Given the description of an element on the screen output the (x, y) to click on. 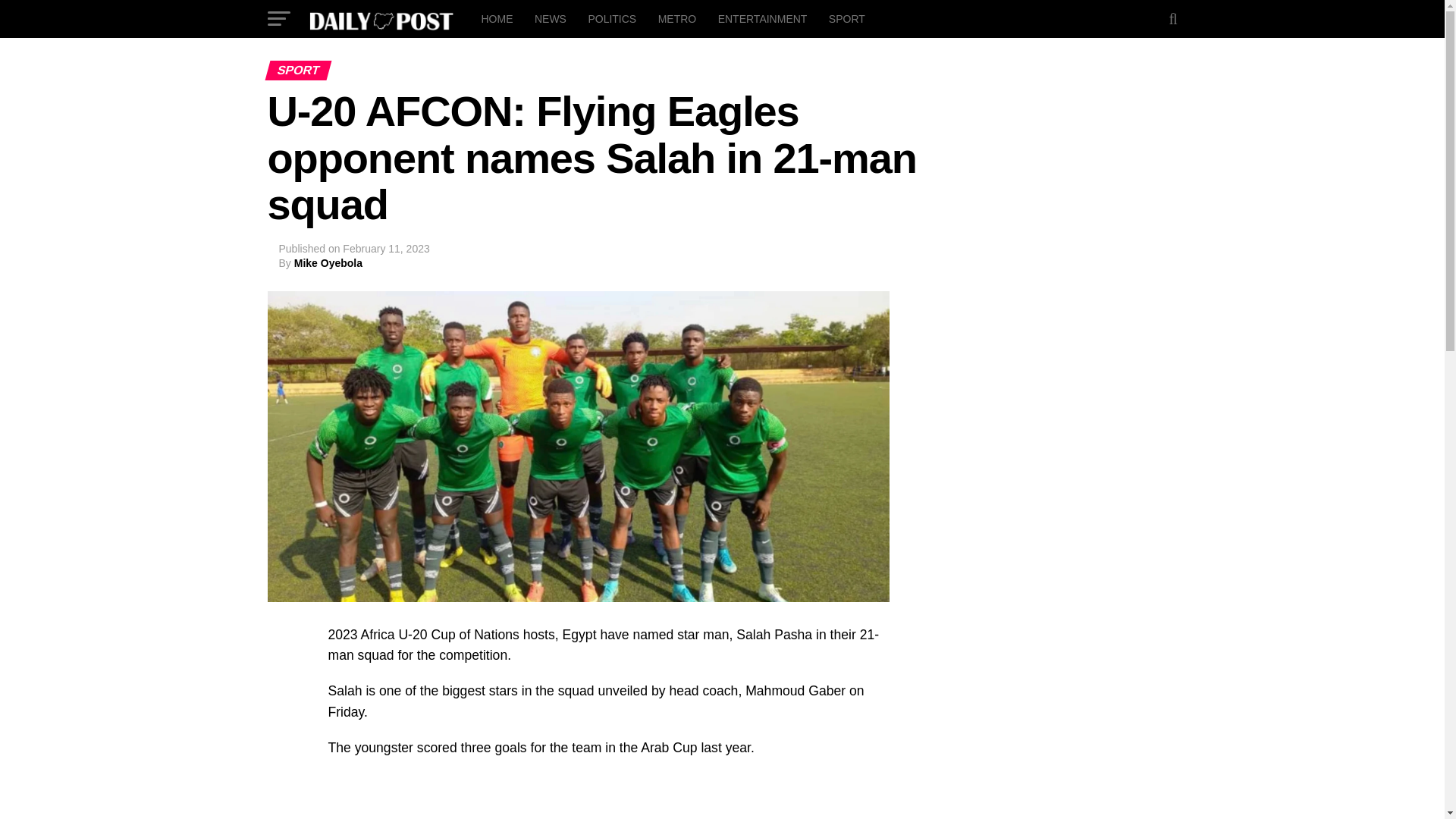
METRO (677, 18)
Posts by Mike Oyebola (328, 263)
ENTERTAINMENT (762, 18)
SPORT (847, 18)
Mike Oyebola (328, 263)
NEWS (550, 18)
POLITICS (611, 18)
HOME (496, 18)
